Given the description of an element on the screen output the (x, y) to click on. 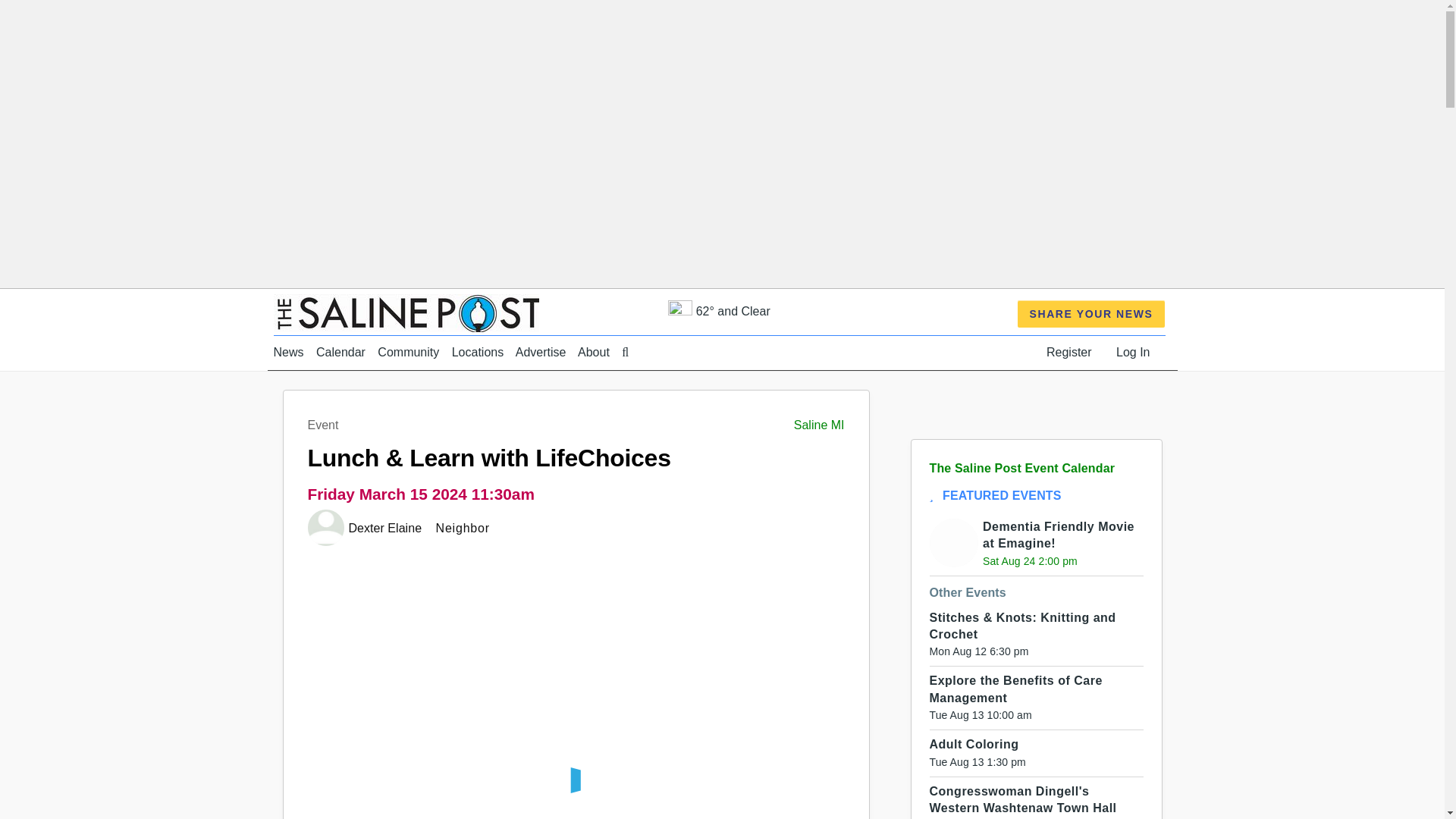
The Saline Post (405, 311)
About (594, 351)
Community (408, 351)
Saline MI weather (719, 310)
News (287, 351)
Advertise (540, 351)
Register (1069, 351)
SHARE YOUR NEWS (1091, 313)
Dexter Elaine (387, 527)
Dexter Elaine (387, 527)
